Given the description of an element on the screen output the (x, y) to click on. 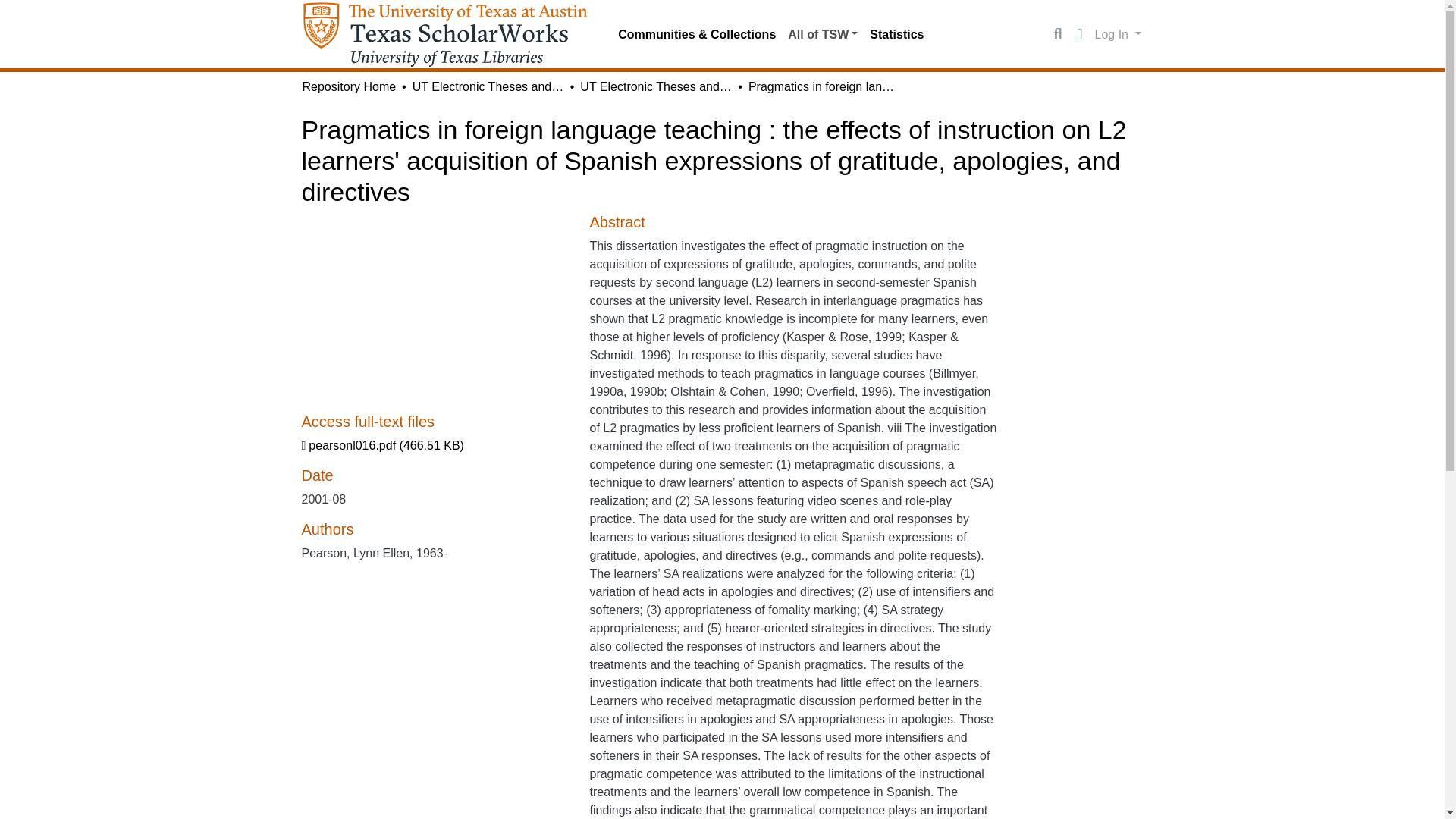
UT Electronic Theses and Dissertations (488, 86)
UT Electronic Theses and Dissertations (655, 86)
Search (1057, 34)
Log In (1117, 33)
Statistics (896, 34)
Repository Home (348, 86)
Language switch (1079, 34)
Statistics (896, 34)
All of TSW (822, 34)
